Given the description of an element on the screen output the (x, y) to click on. 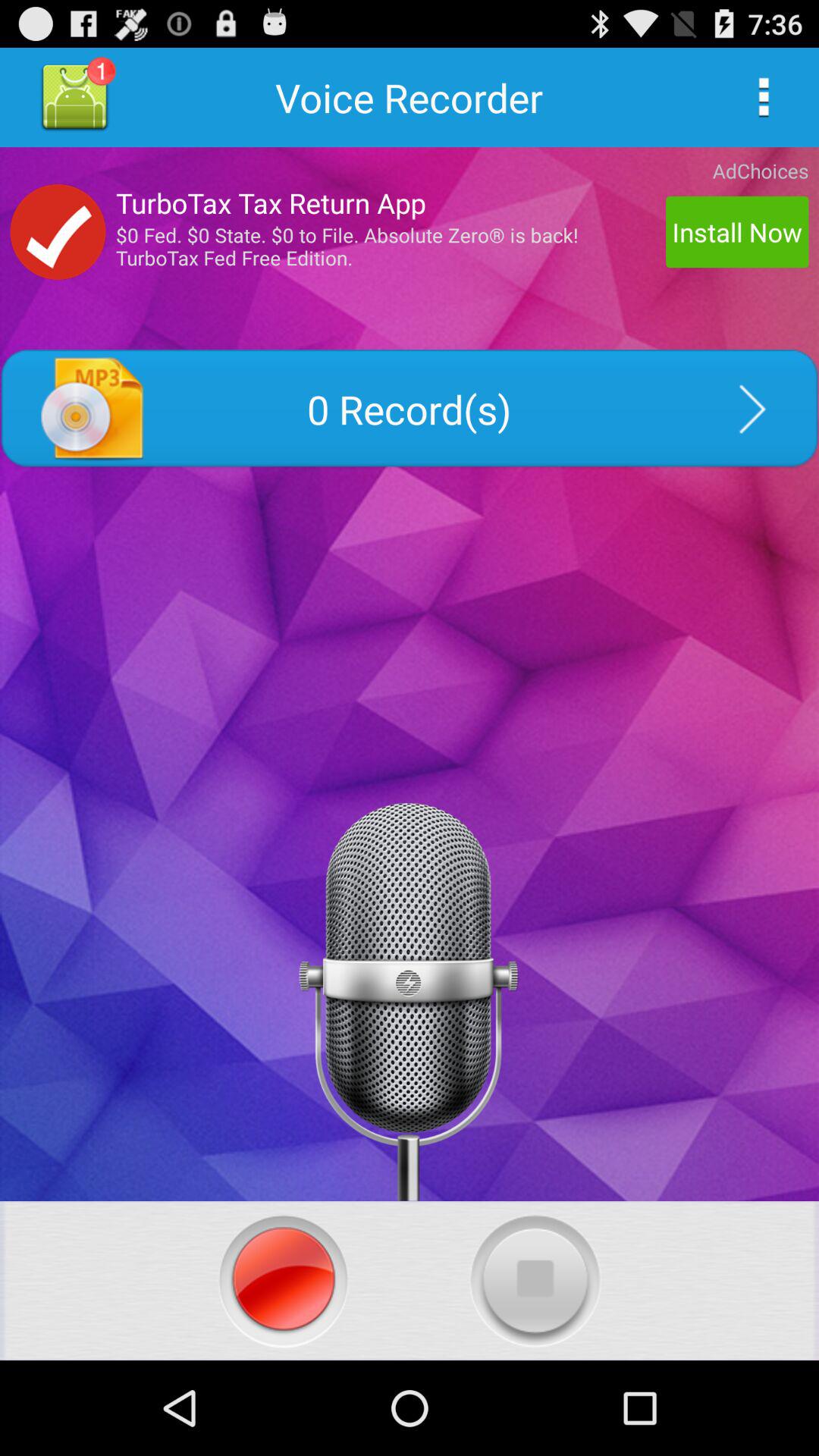
good quality voice recorder (75, 97)
